Given the description of an element on the screen output the (x, y) to click on. 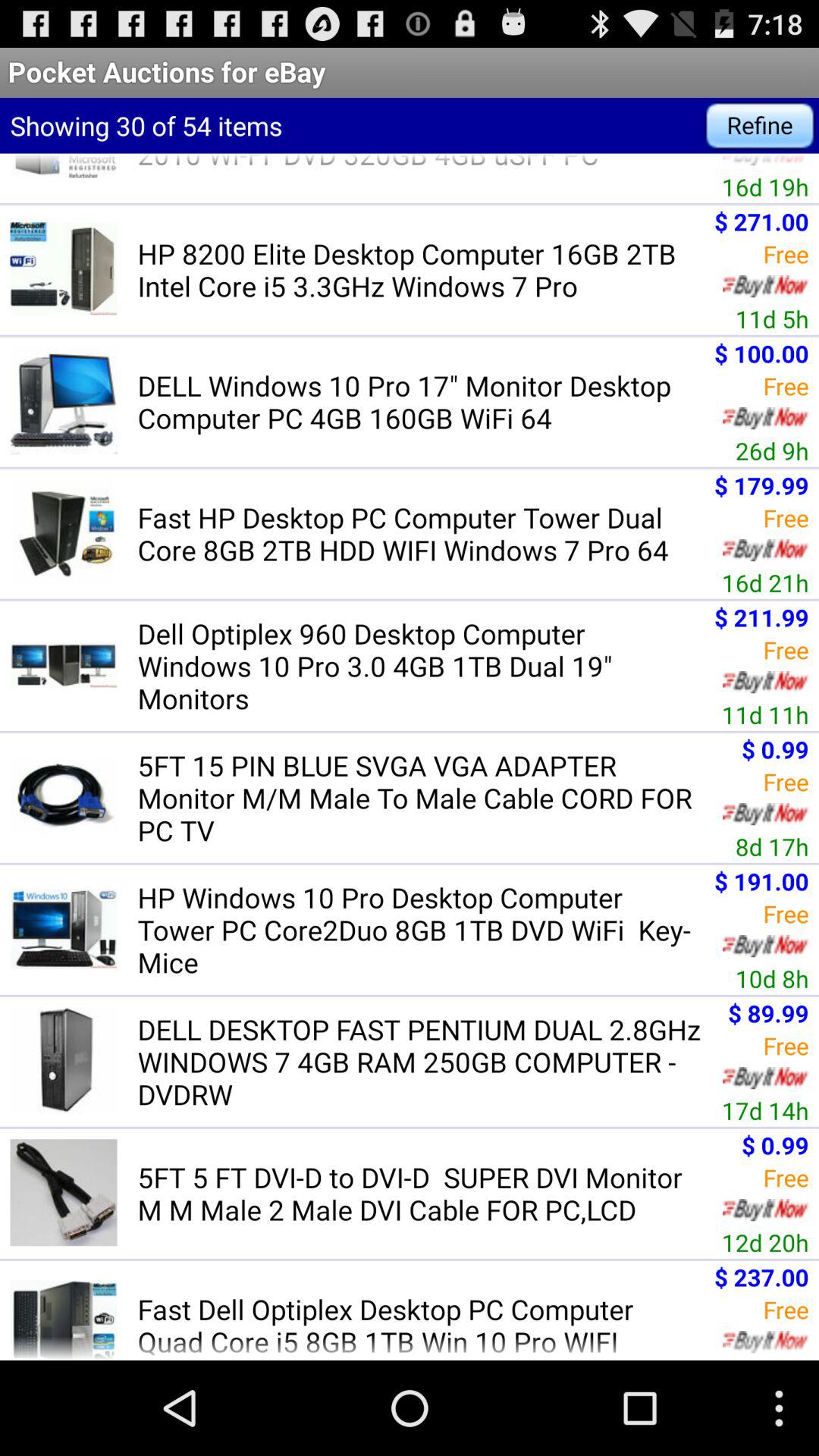
select the 5ft 5 ft (424, 1193)
